Given the description of an element on the screen output the (x, y) to click on. 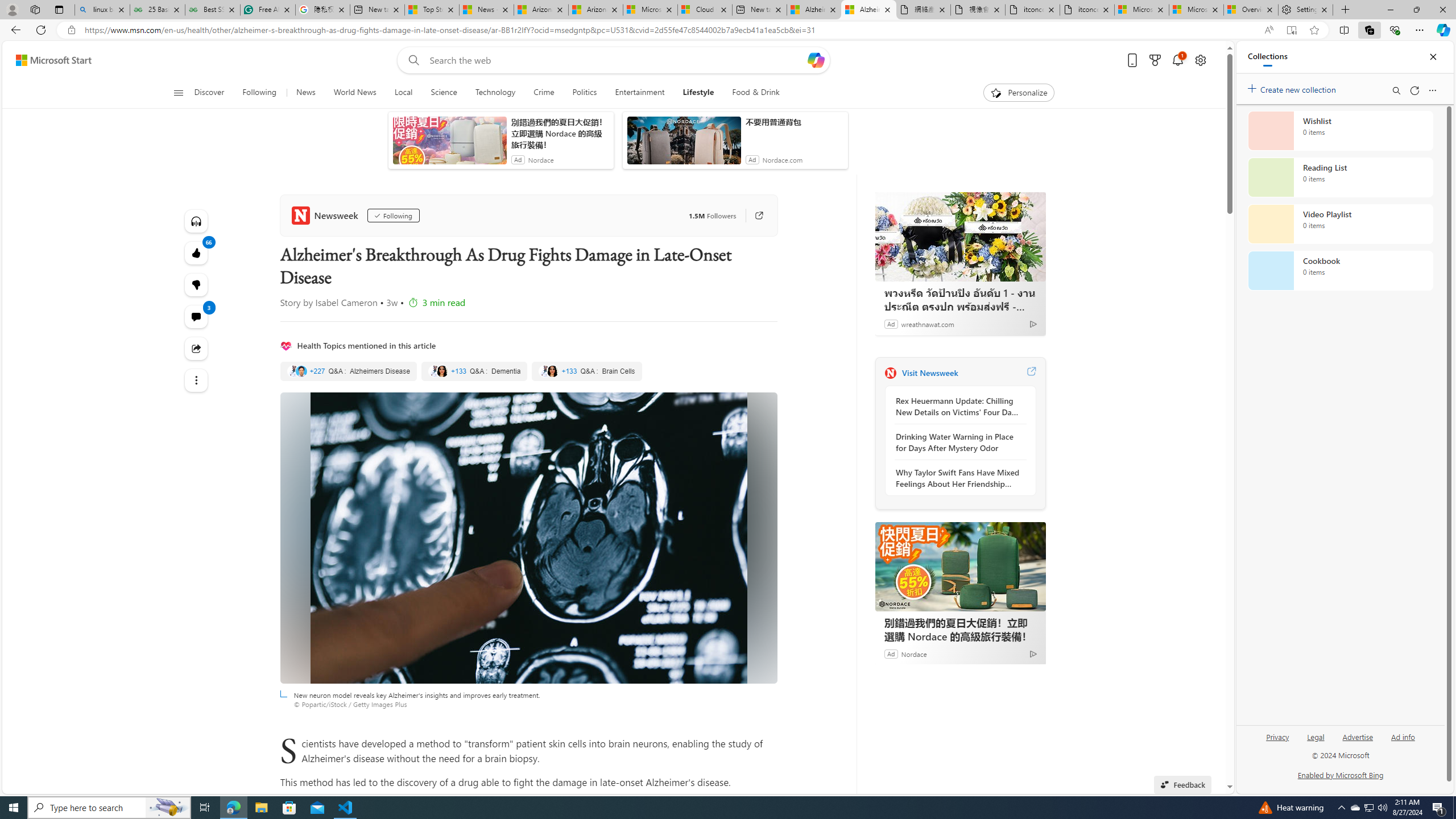
Alzheimers Disease (347, 370)
Brain cells (586, 370)
66 Like (196, 252)
